Given the description of an element on the screen output the (x, y) to click on. 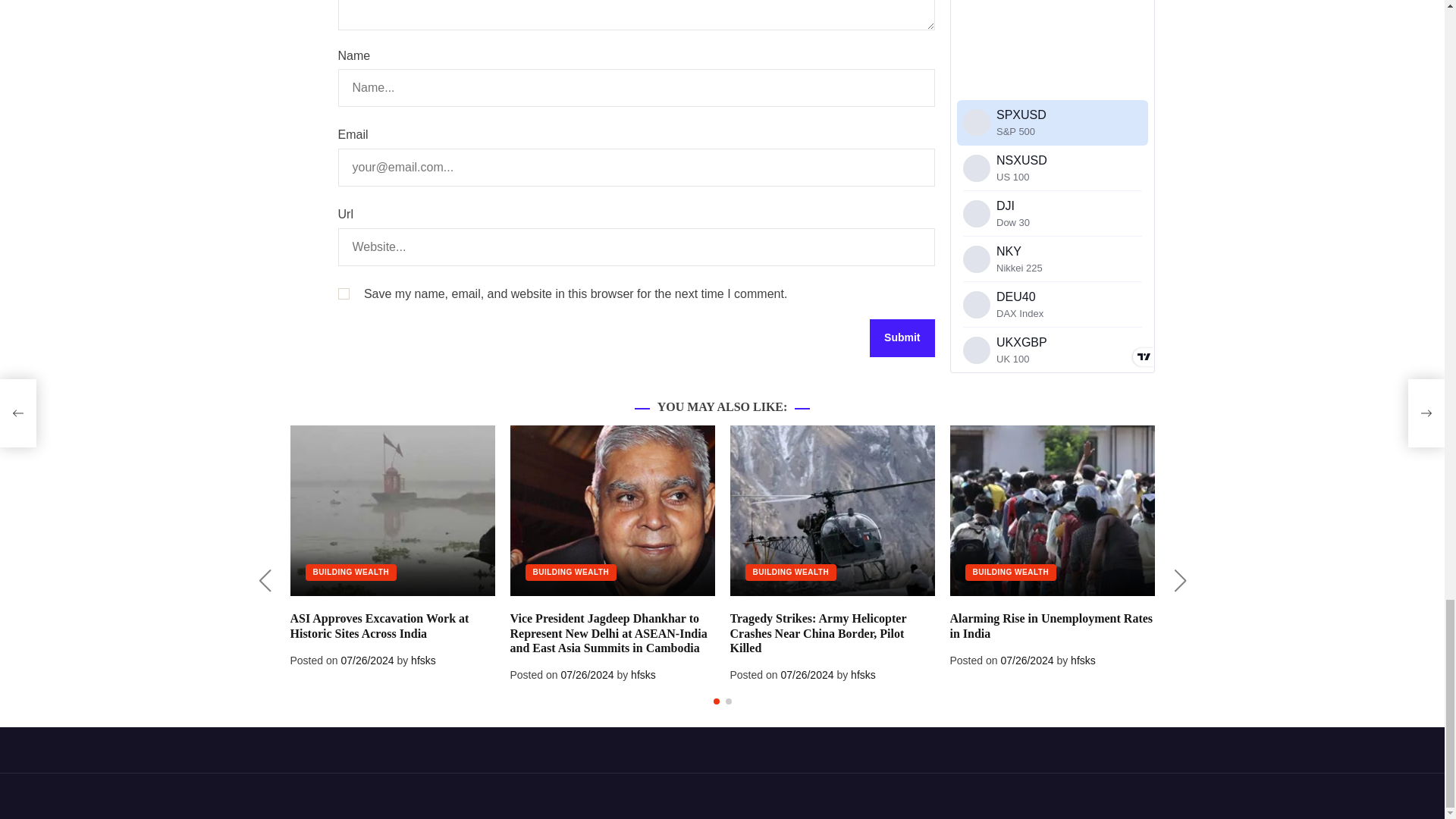
yes (343, 293)
Submit (901, 338)
